Given the description of an element on the screen output the (x, y) to click on. 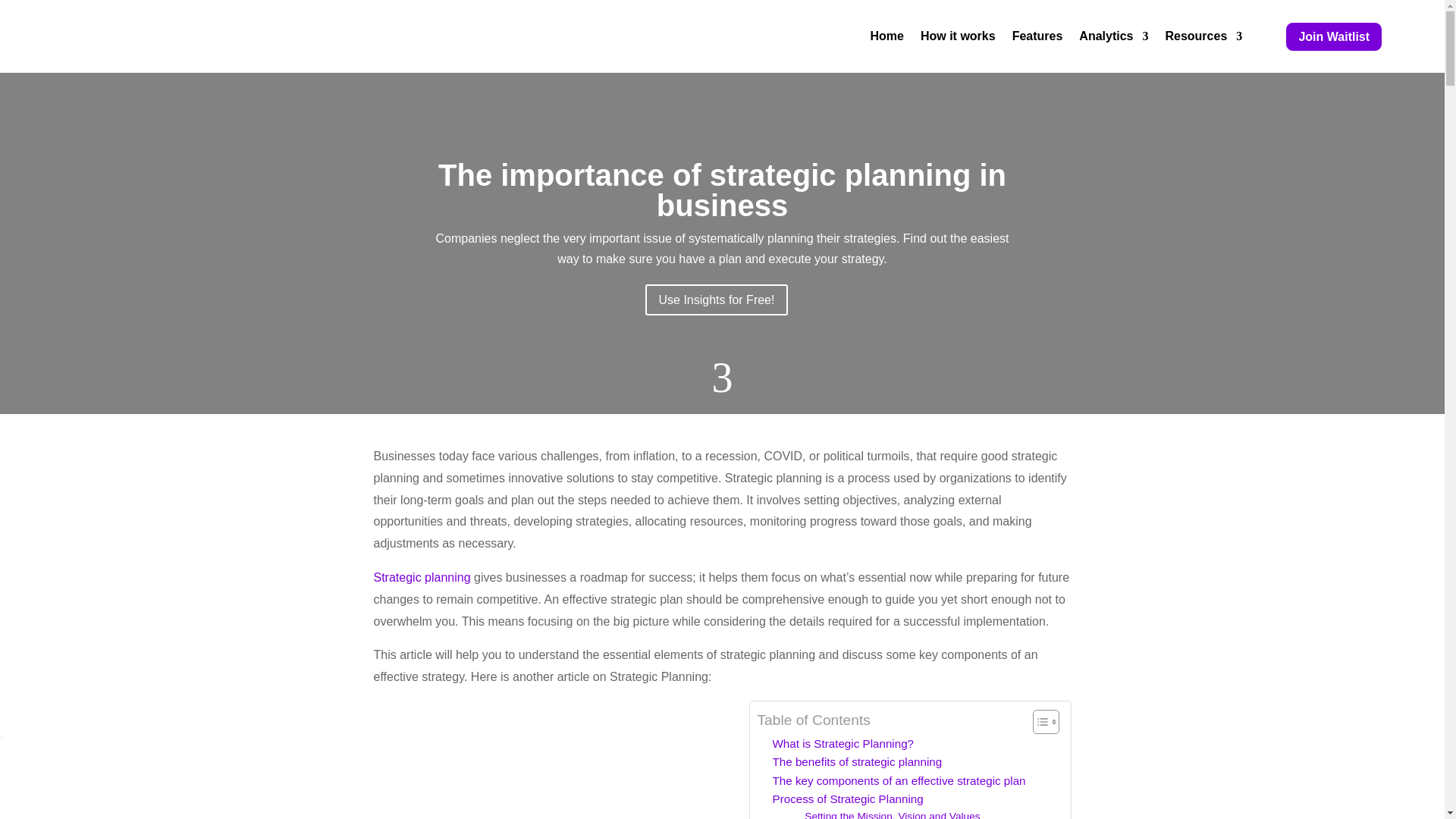
What is Strategic Planning? (842, 743)
The key components of an effective strategic plan (898, 781)
How it works (957, 36)
The benefits of strategic planning (856, 761)
Analytics (1113, 36)
Resources (1202, 36)
Join Waitlist (1333, 36)
Setting the Mission, Vision and Values (892, 813)
Process of Strategic Planning (847, 799)
